Given the description of an element on the screen output the (x, y) to click on. 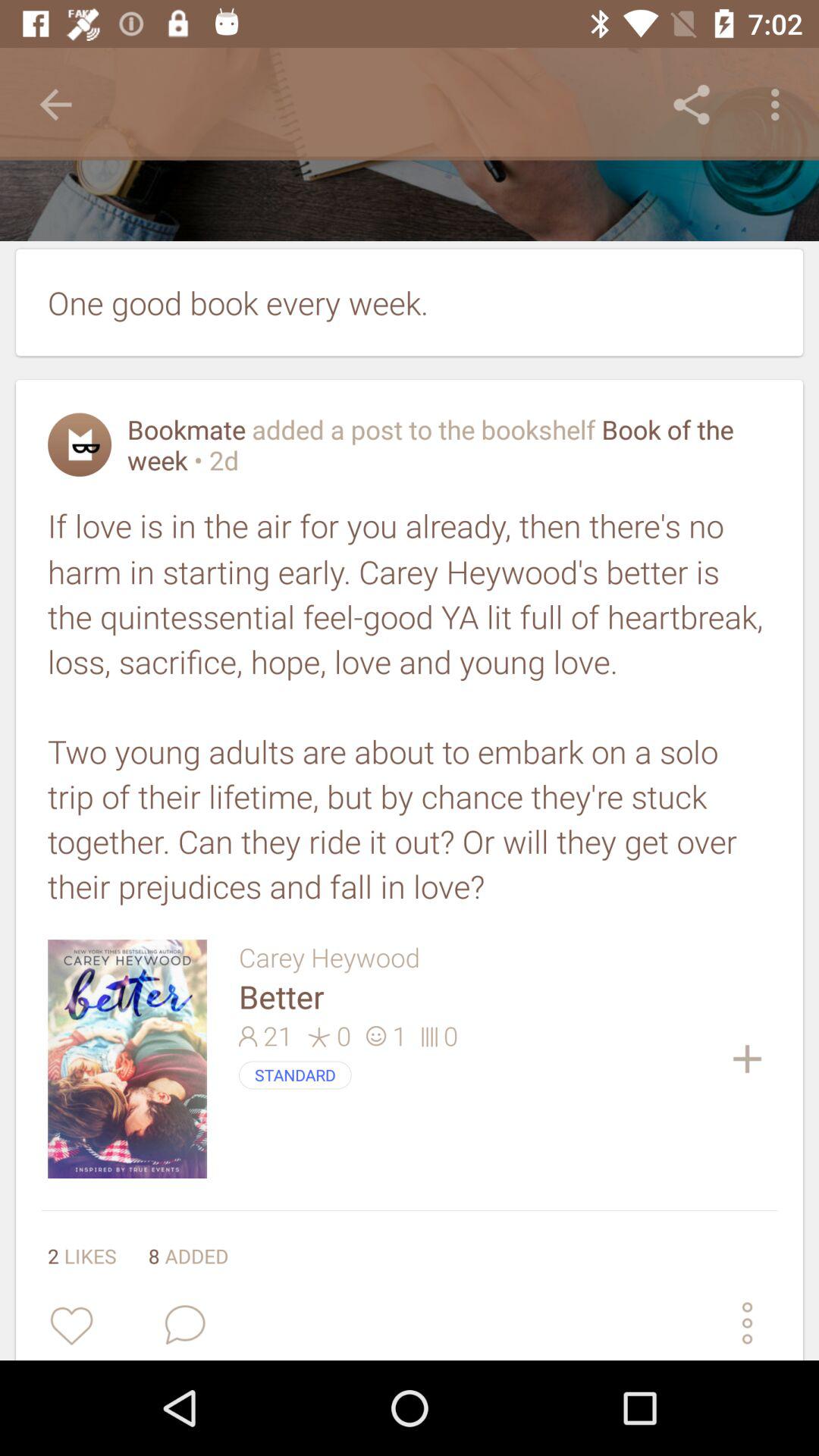
click the share button (691, 104)
